Given the description of an element on the screen output the (x, y) to click on. 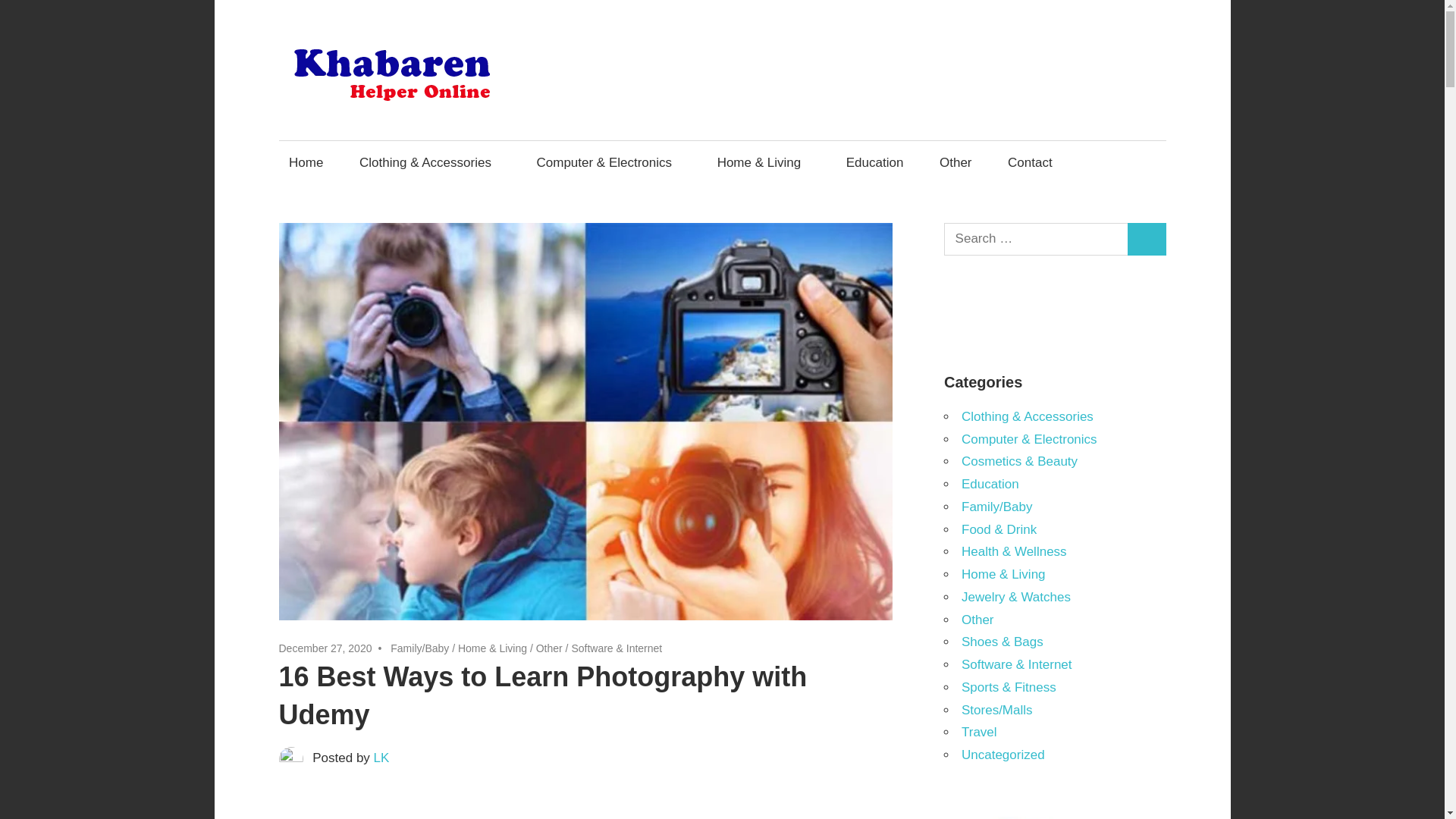
Other (548, 648)
View all posts by LK (382, 757)
Education (874, 161)
Other (954, 161)
11:35 am (325, 648)
December 27, 2020 (325, 648)
LK (382, 757)
Contact (1029, 161)
Home (306, 161)
